Given the description of an element on the screen output the (x, y) to click on. 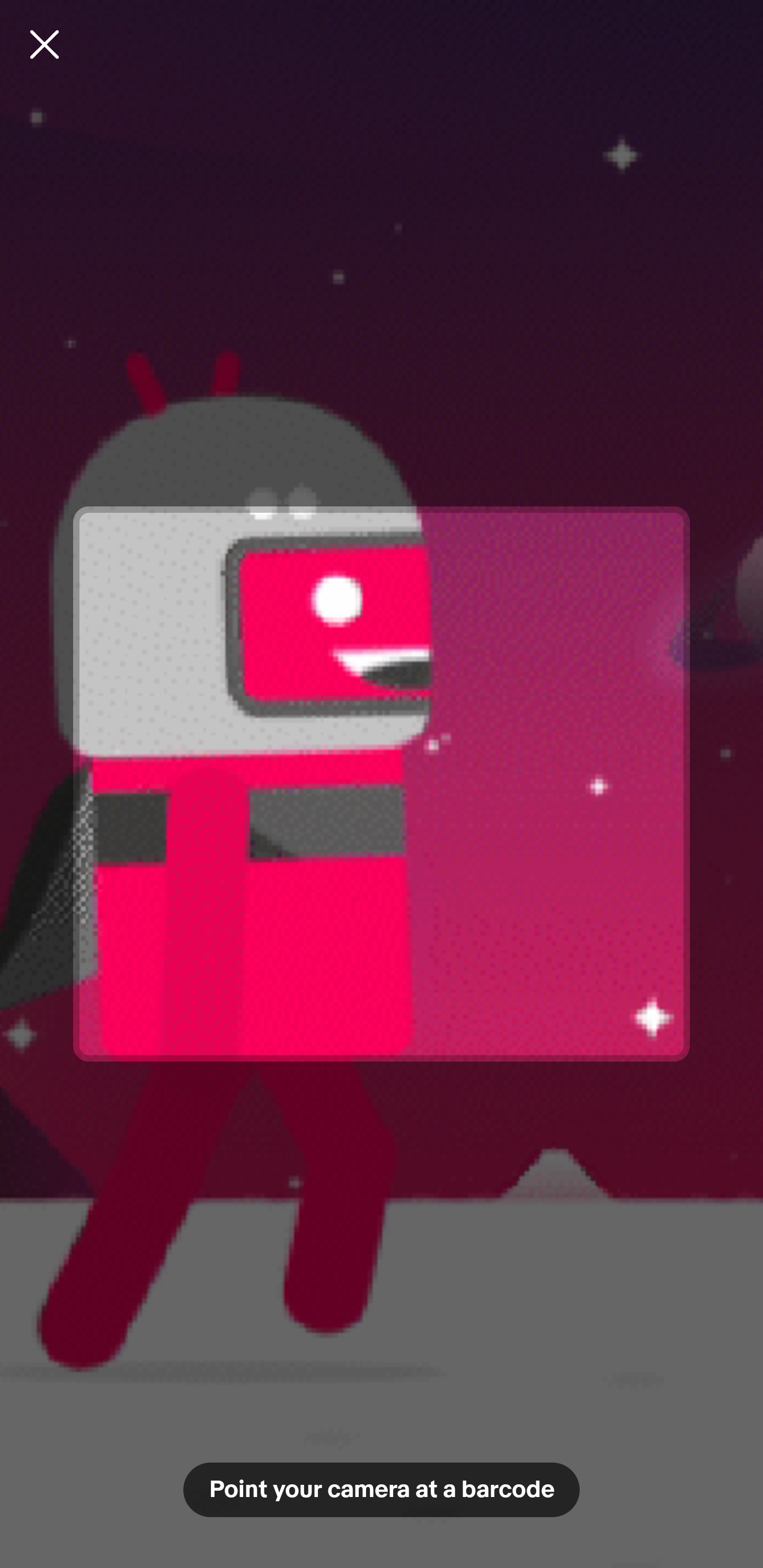
Close (44, 44)
